Given the description of an element on the screen output the (x, y) to click on. 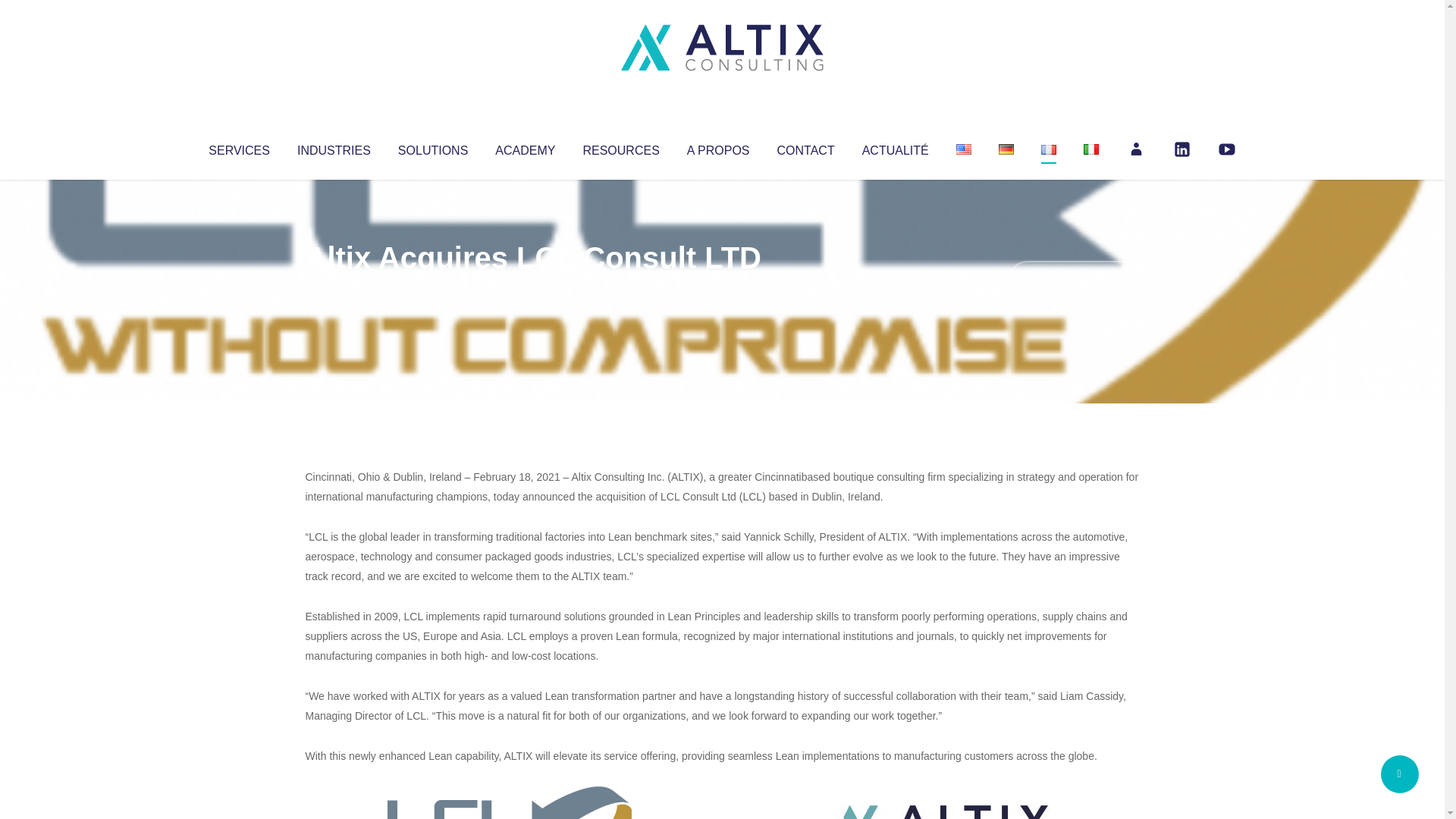
SOLUTIONS (432, 146)
RESOURCES (620, 146)
SERVICES (238, 146)
Articles par Altix (333, 287)
No Comments (1073, 278)
Altix (333, 287)
A PROPOS (718, 146)
ACADEMY (524, 146)
Uncategorized (530, 287)
INDUSTRIES (334, 146)
